Given the description of an element on the screen output the (x, y) to click on. 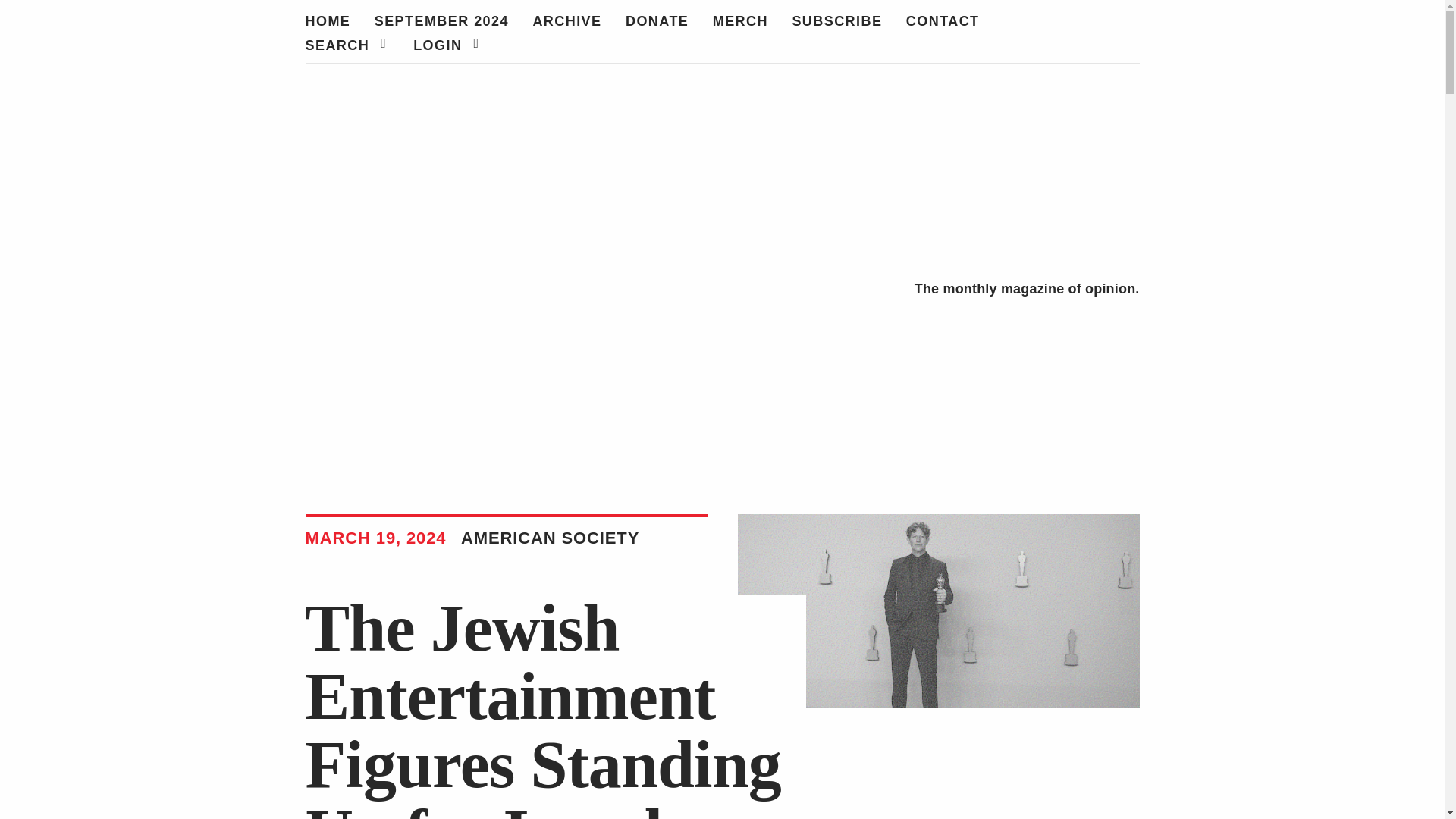
DONATE (657, 19)
SEARCH (345, 43)
HOME (327, 19)
CONTACT (942, 19)
AMERICAN SOCIETY (544, 539)
ARCHIVE (566, 19)
LOGIN (446, 43)
SEPTEMBER 2024 (441, 19)
MERCH (740, 19)
SUBSCRIBE (837, 19)
